Given the description of an element on the screen output the (x, y) to click on. 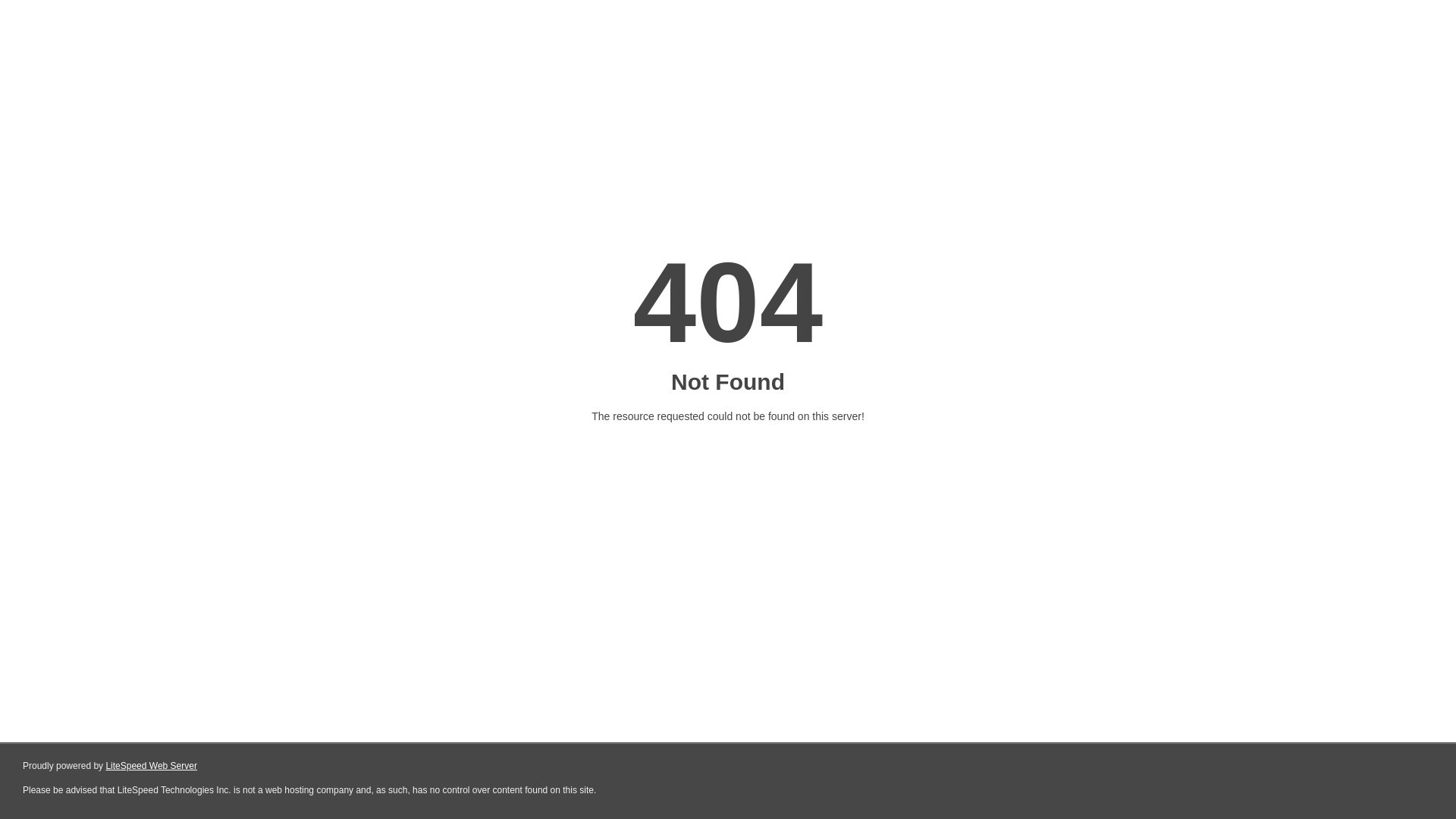
LiteSpeed Web Server Element type: text (151, 765)
